Given the description of an element on the screen output the (x, y) to click on. 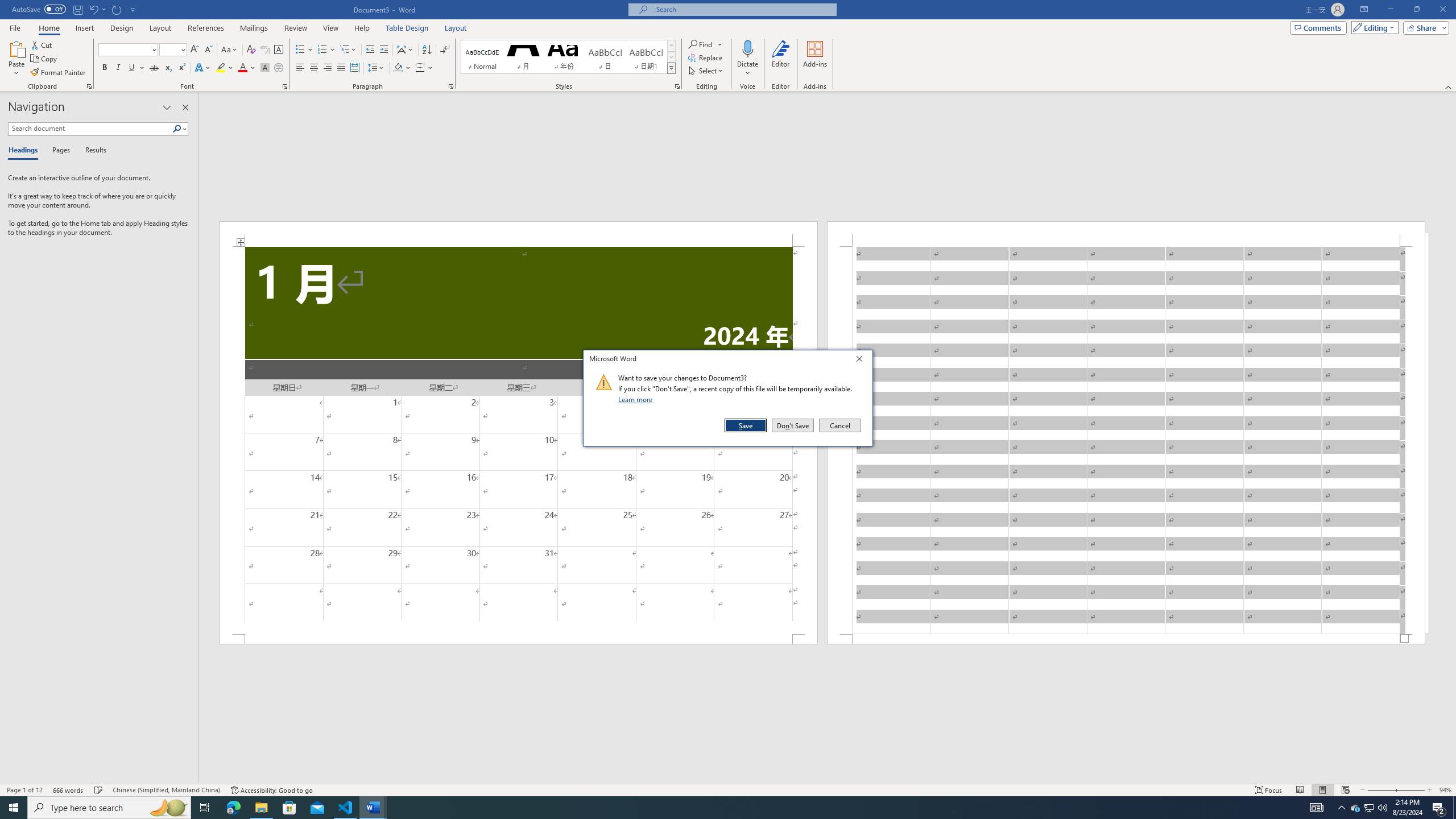
Align Left (300, 67)
Text Effects and Typography (202, 67)
Insert (83, 28)
Grow Font (193, 49)
Font (128, 49)
Numbering (326, 49)
Character Shading (264, 67)
Microsoft Store (289, 807)
Font Color (246, 67)
Microsoft Edge (233, 807)
Task View (204, 807)
Increase Indent (383, 49)
Print Layout (1322, 790)
